Given the description of an element on the screen output the (x, y) to click on. 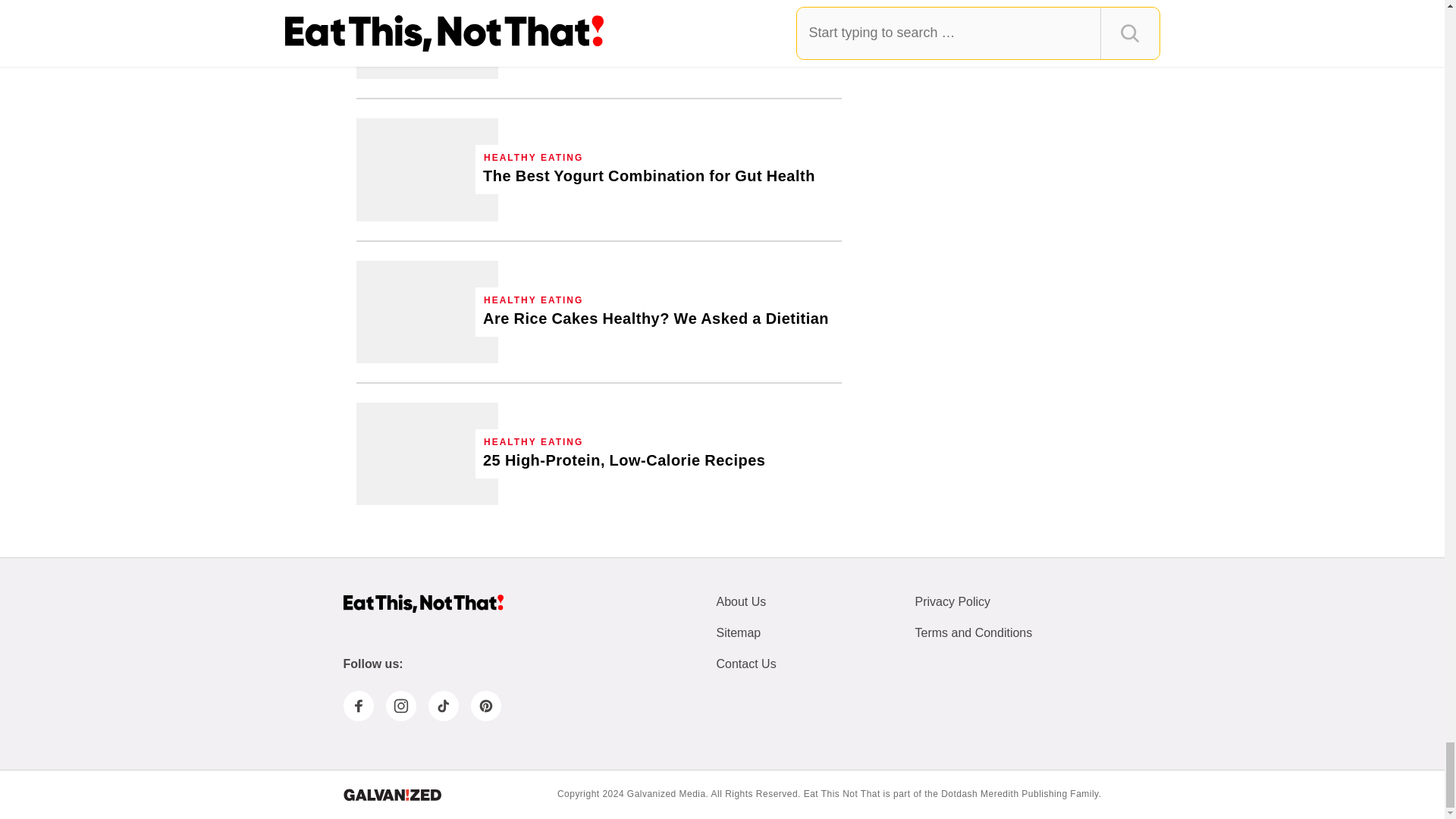
25 High-Protein Recipes That Are Also Low in Calories (426, 453)
Are Rice Cakes Healthy? We Asked a Dietitian (655, 318)
25 High-Protein Recipes That Are Also Low in Calories (624, 460)
Are Rice Cakes Healthy? We Asked a Dietitian (426, 312)
